Given the description of an element on the screen output the (x, y) to click on. 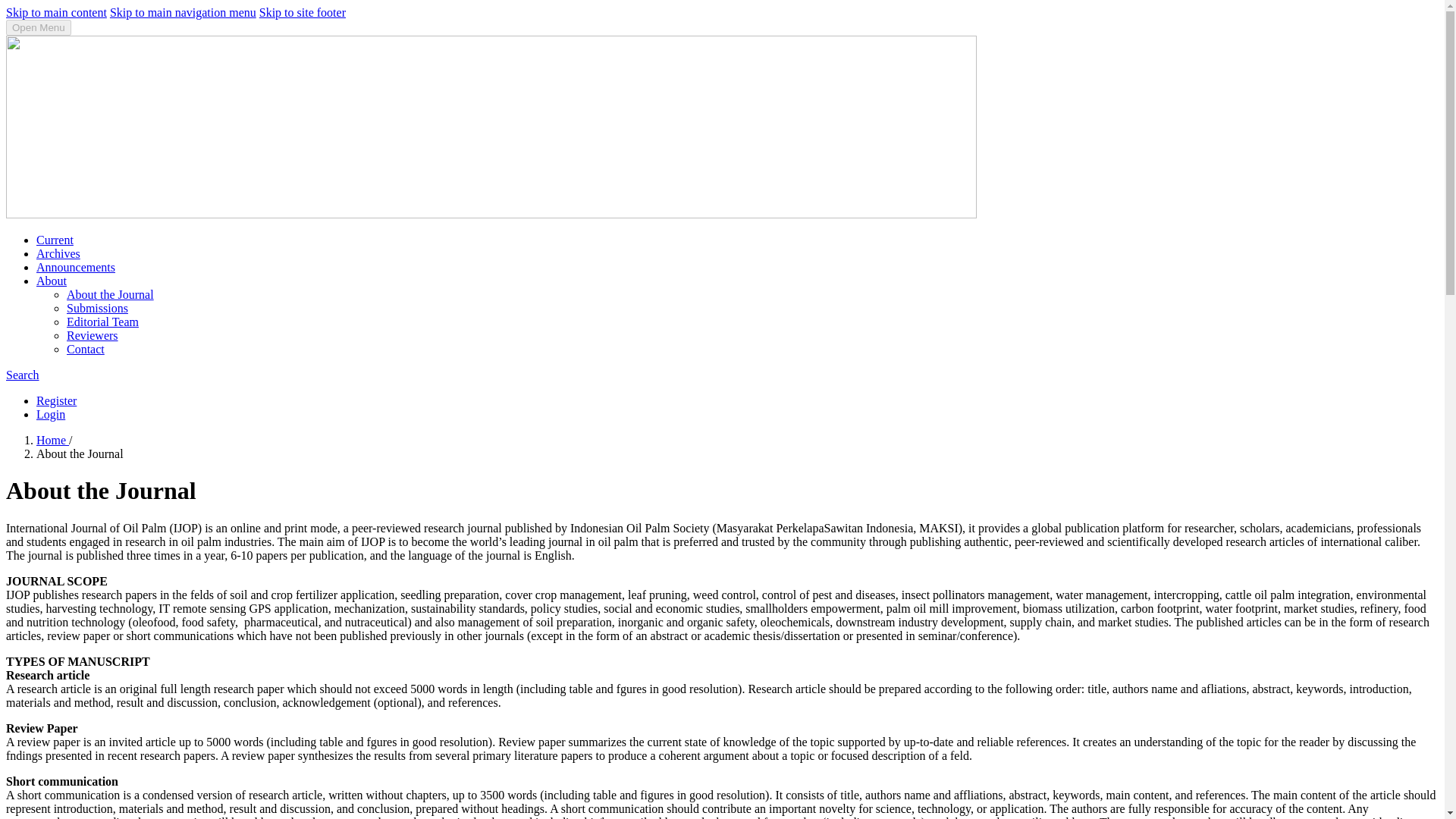
Login (50, 413)
Archives (58, 253)
Search (22, 374)
Announcements (75, 267)
Editorial Team (102, 321)
Home (52, 440)
Skip to site footer (302, 11)
Skip to main content (55, 11)
Contact (85, 349)
Submissions (97, 308)
